Given the description of an element on the screen output the (x, y) to click on. 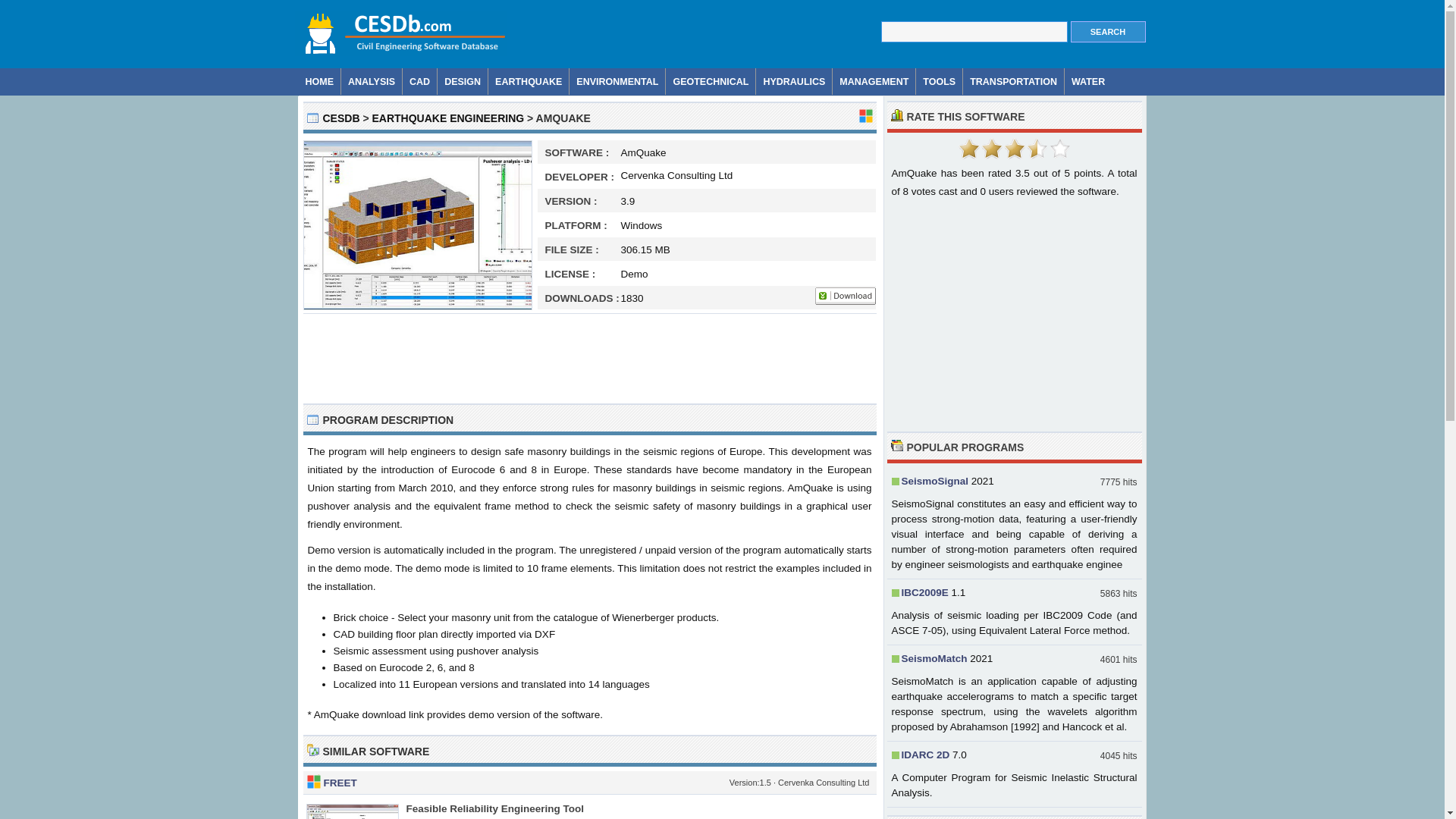
2 stars (991, 148)
5 stars (1059, 148)
4 stars (1036, 148)
1 stars (967, 148)
EARTHQUAKE (528, 81)
AmQuake (417, 306)
1 (967, 148)
Advertisement (1013, 317)
SeismoSignal (934, 480)
Cervenka Consulting Ltd (676, 178)
SEARCH (1107, 31)
GEOTECHNICAL (710, 81)
3 stars (1014, 148)
SEARCH (1107, 31)
ENVIRONMENTAL (617, 81)
